Given the description of an element on the screen output the (x, y) to click on. 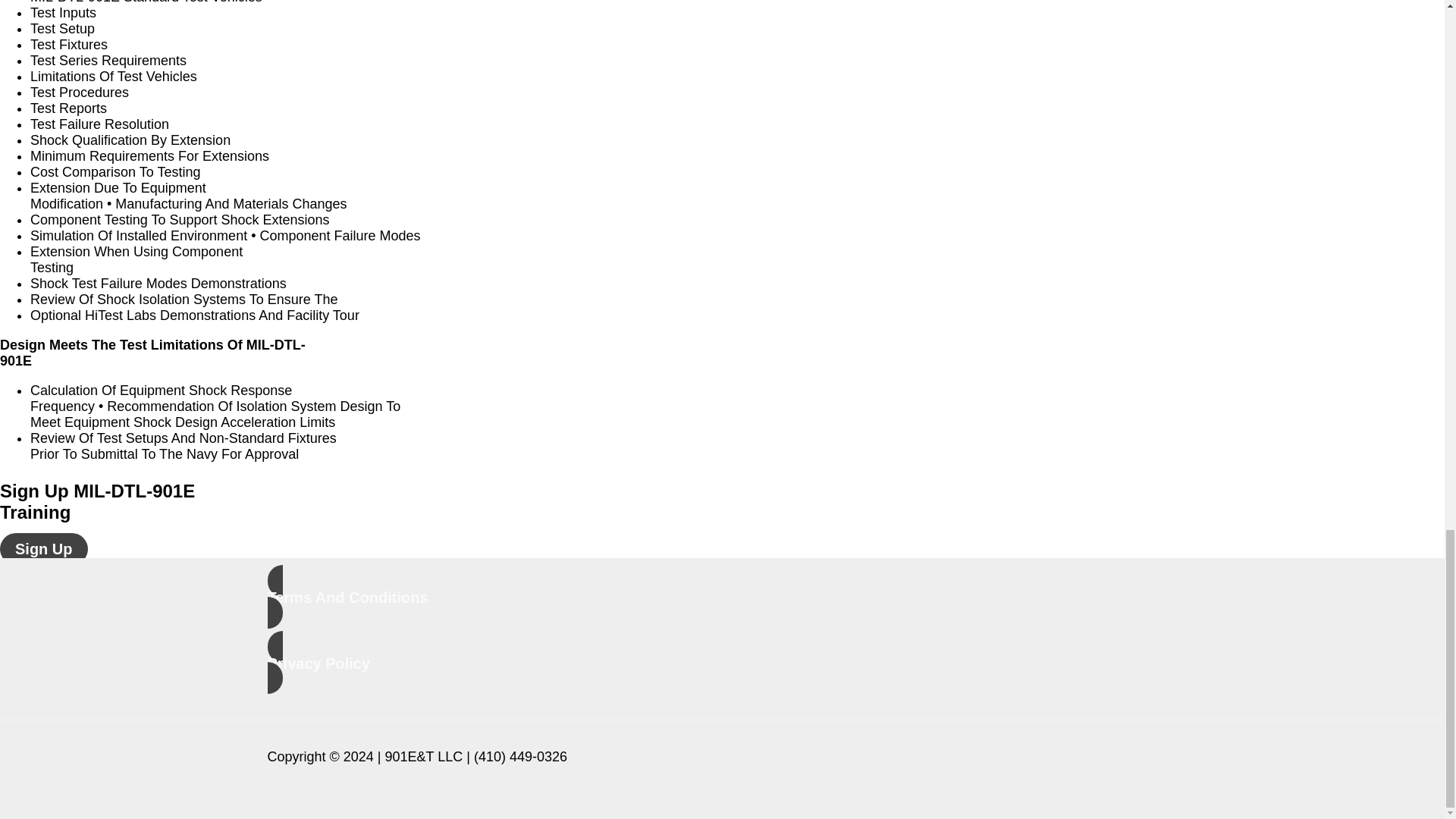
Sign Up (43, 549)
Privacy Policy (721, 661)
Terms And Conditions (721, 596)
